Given the description of an element on the screen output the (x, y) to click on. 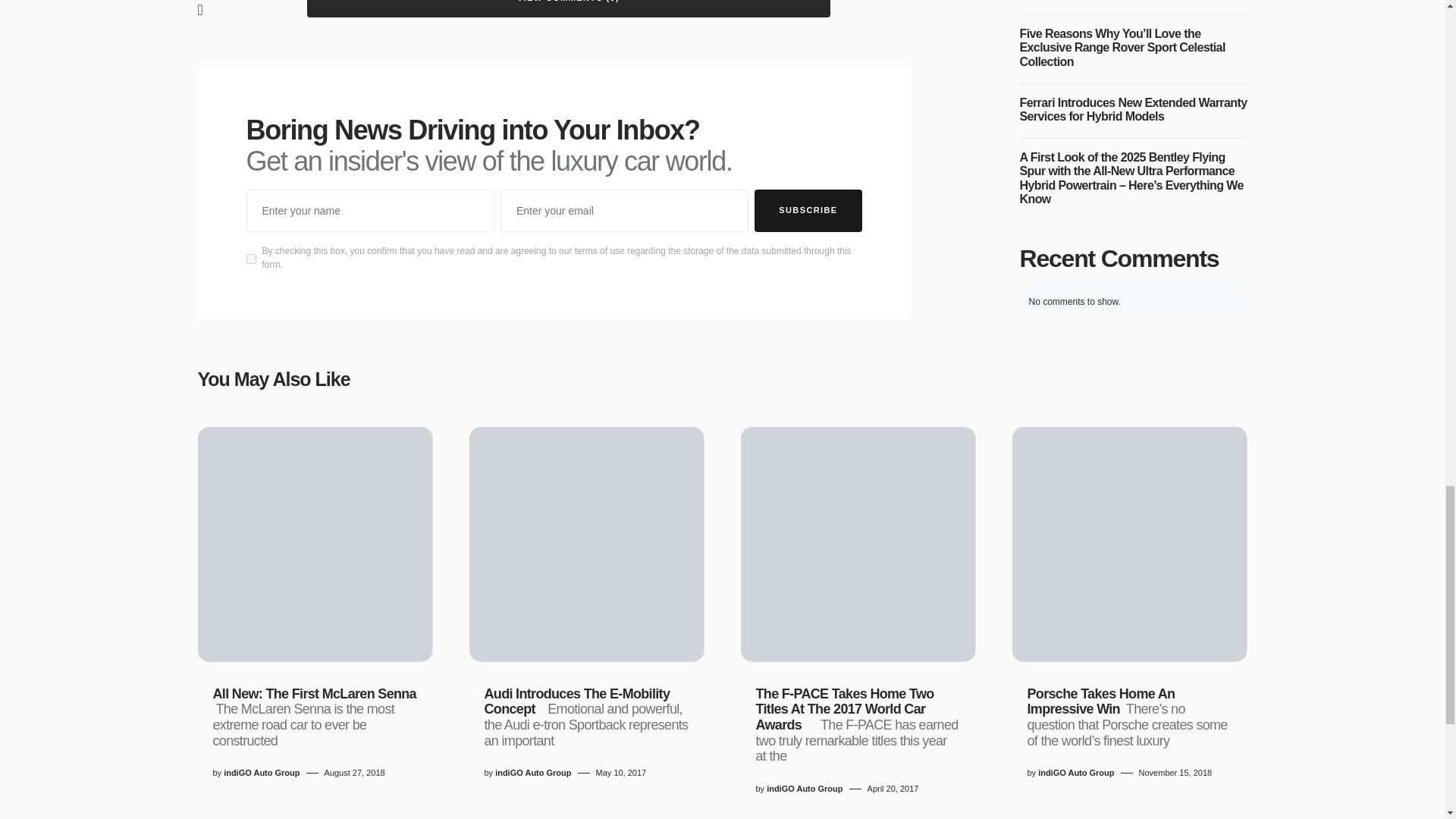
View all posts by indiGO Auto Group (805, 788)
View all posts by indiGO Auto Group (532, 772)
View all posts by indiGO Auto Group (261, 772)
View all posts by indiGO Auto Group (1075, 772)
